Given the description of an element on the screen output the (x, y) to click on. 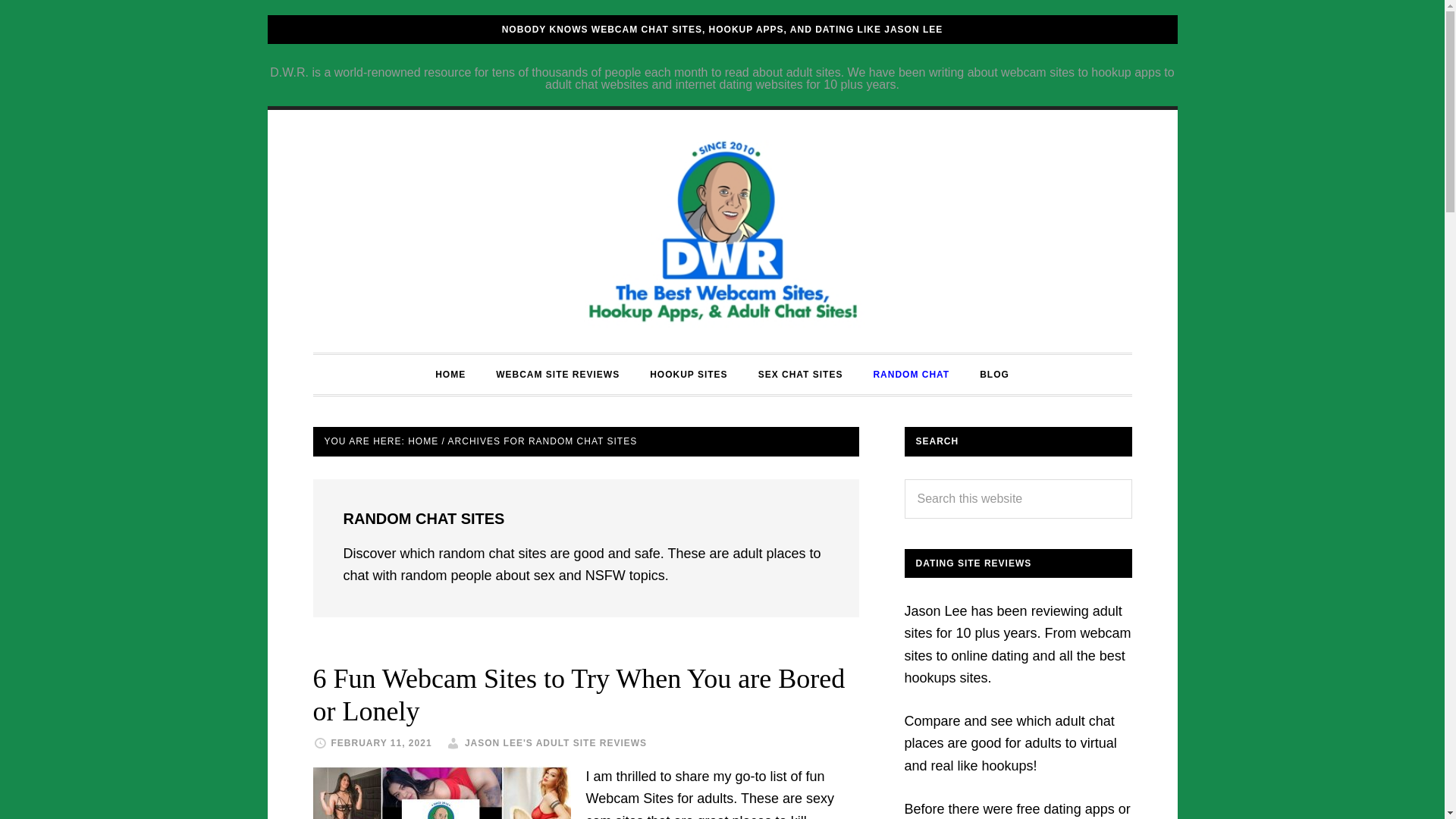
BLOG (994, 373)
HOOKUP SITES (688, 373)
WEBCAM SITE REVIEWS (557, 373)
COMPARE ADULT SITES (721, 230)
HOME (422, 440)
HOME (450, 373)
RANDOM CHAT (910, 373)
6 Fun Webcam Sites to Try When You are Bored or Lonely (578, 694)
